Given the description of an element on the screen output the (x, y) to click on. 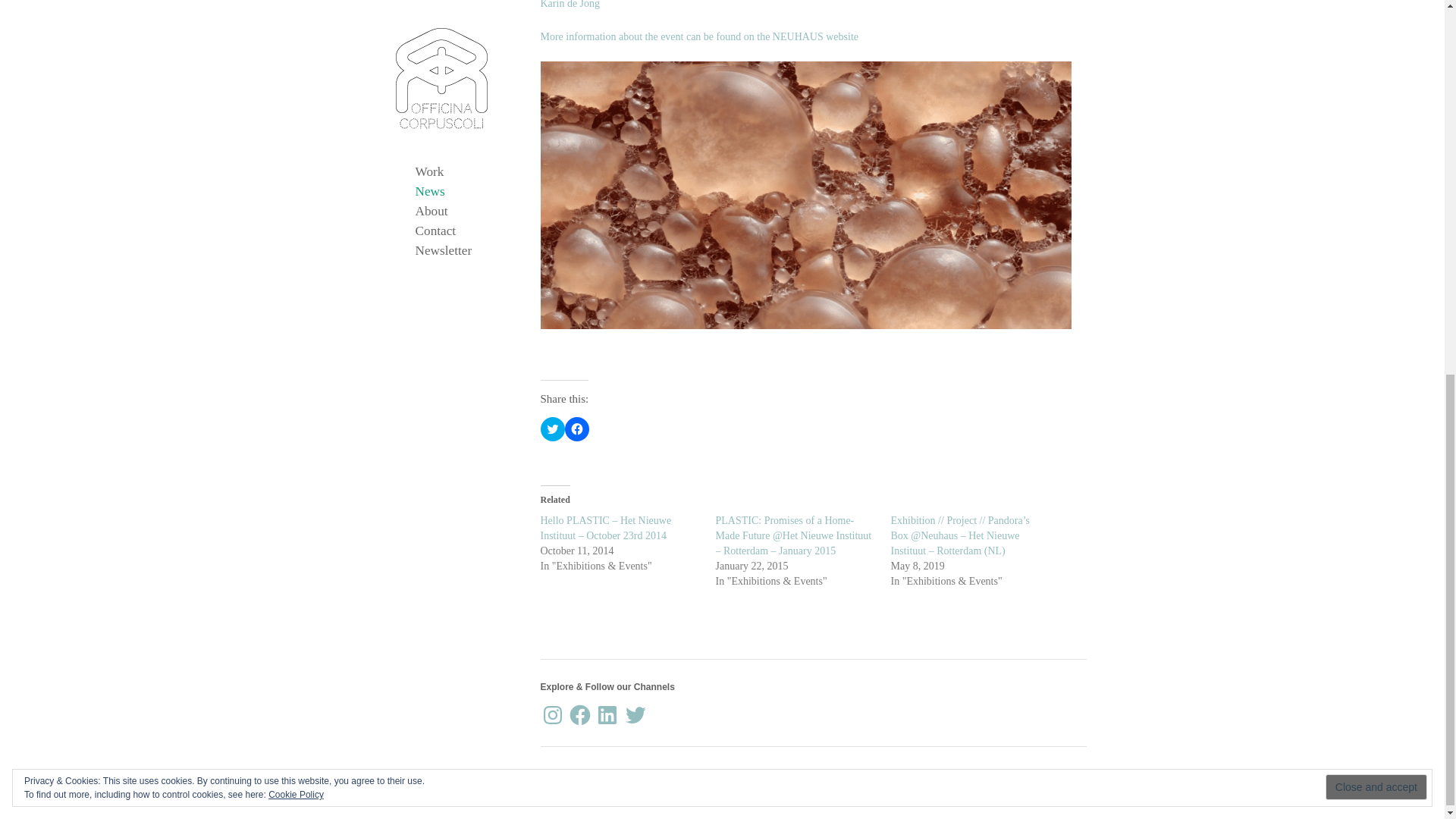
Facebook (579, 714)
Instagram (552, 714)
Click to share on Twitter (552, 428)
www.corpuscoli.com (888, 777)
LinkedIn (607, 714)
Cookie Policy (295, 102)
Click to share on Facebook (576, 428)
Twitter (635, 714)
Officina Corpuscoli (614, 777)
Close and accept (1375, 95)
Close and accept (1375, 95)
Karin de Jong (569, 4)
